Given the description of an element on the screen output the (x, y) to click on. 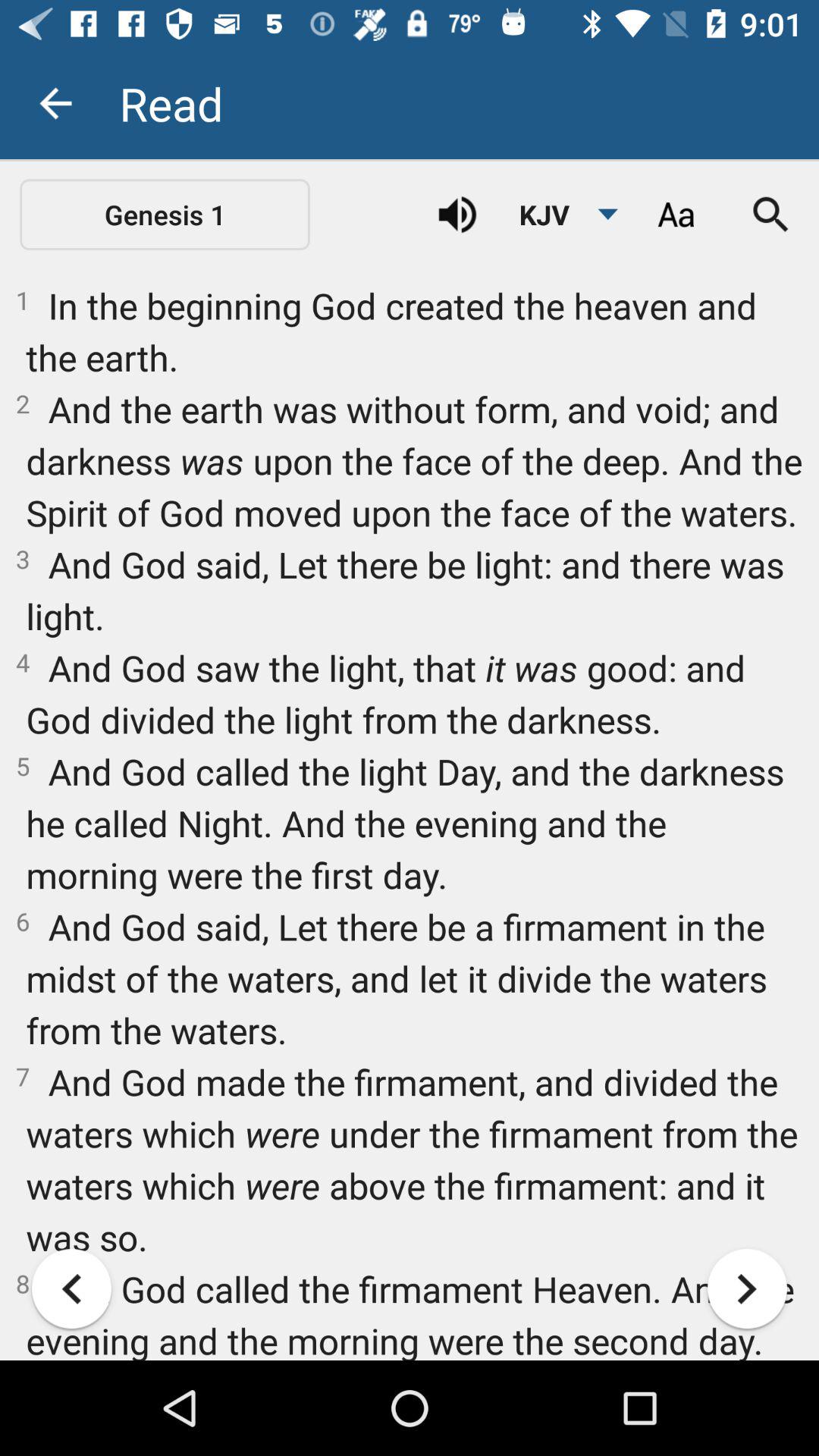
search button (771, 214)
